Given the description of an element on the screen output the (x, y) to click on. 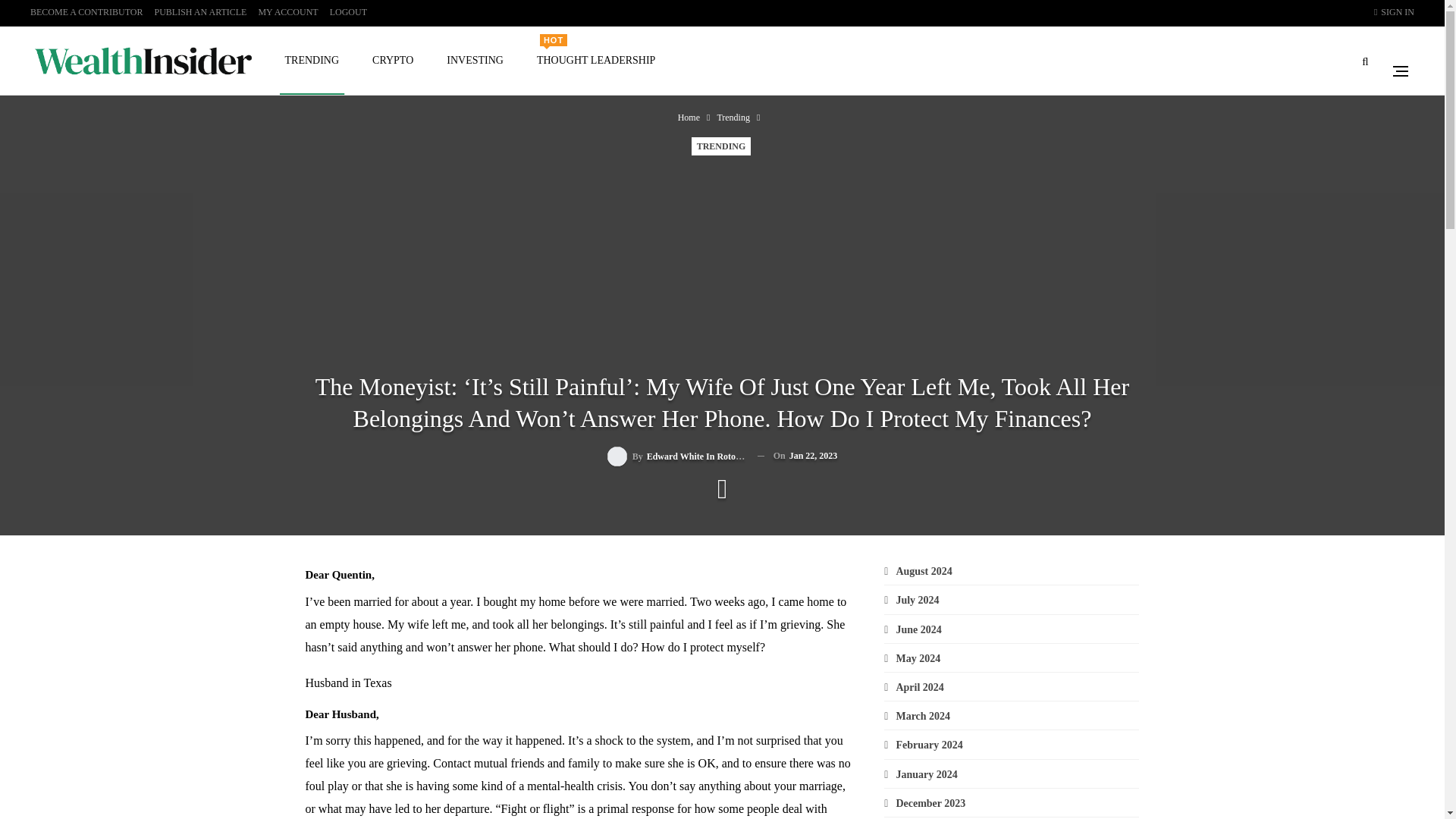
TRENDING (311, 60)
Trending (732, 117)
By Edward White In Rotorua And Tom Mitchell In Singapore (676, 455)
Browse Author Articles (676, 455)
Home (689, 117)
BECOME A CONTRIBUTOR (596, 60)
MY ACCOUNT (86, 11)
PUBLISH AN ARTICLE (287, 11)
SIGN IN (200, 11)
